Given the description of an element on the screen output the (x, y) to click on. 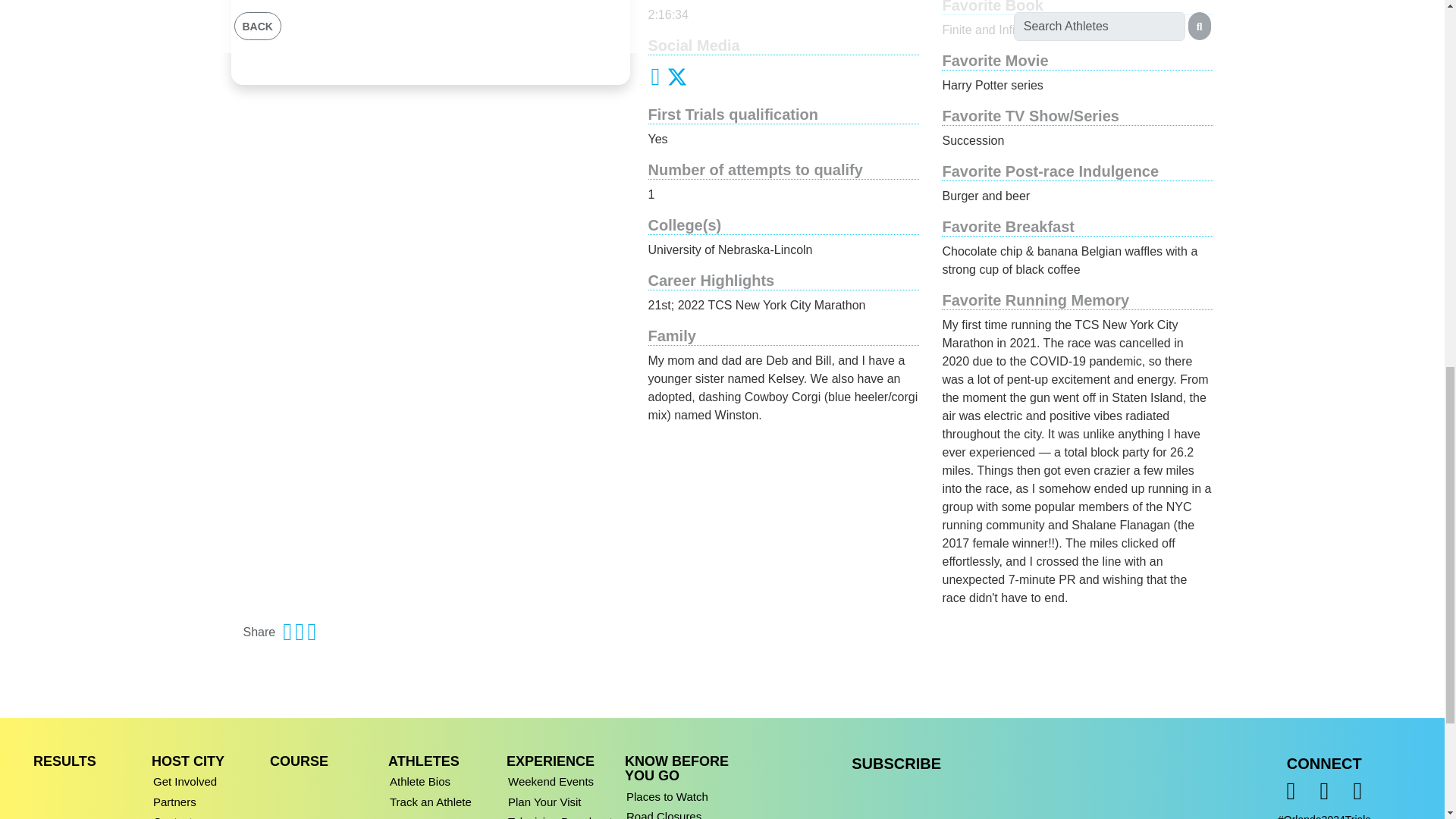
RESULTS (64, 761)
Partners (207, 799)
COURSE (299, 761)
Get Involved (207, 778)
Contact (207, 814)
ATHLETES (424, 761)
HOST CITY (187, 761)
